Given the description of an element on the screen output the (x, y) to click on. 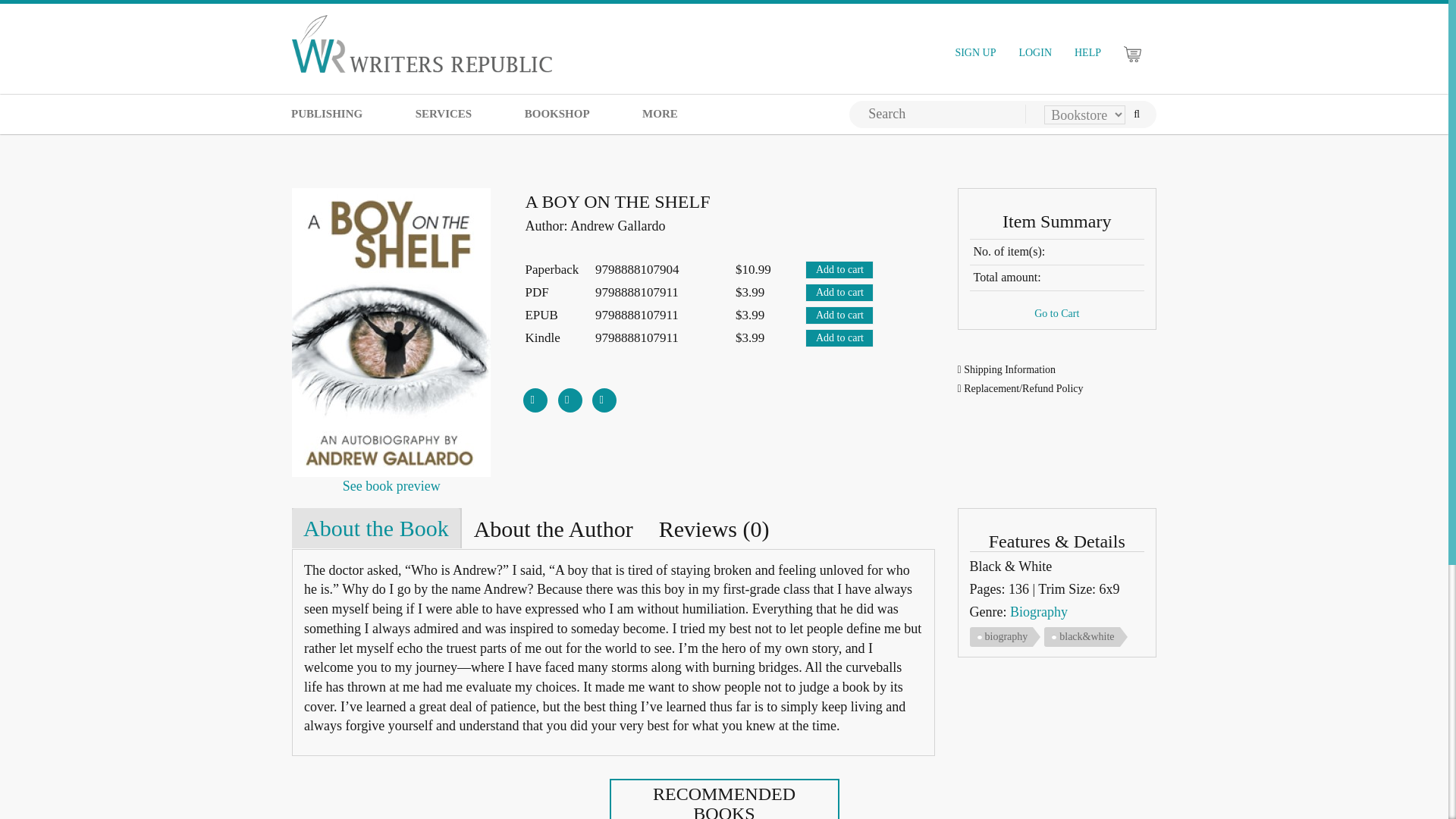
MORE (659, 113)
Twitter (569, 393)
SIGN UP (975, 53)
LOGIN (1034, 53)
PDF (391, 485)
SERVICES (443, 113)
BOOKSHOP (557, 113)
Pinterest (603, 393)
PUBLISHING (326, 113)
HELP (1087, 53)
